Given the description of an element on the screen output the (x, y) to click on. 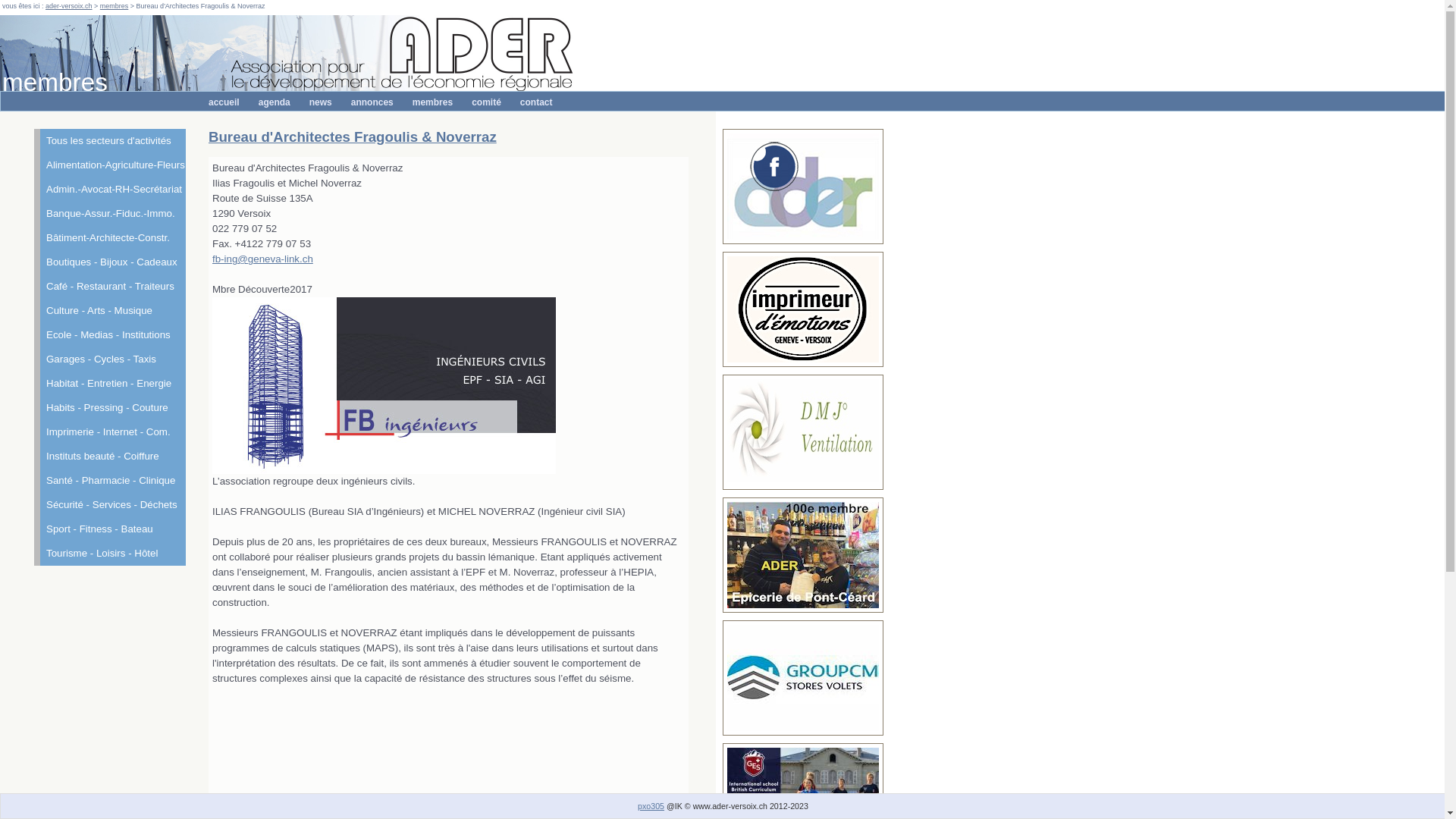
Ecole - Medias - Institutions Element type: text (109, 335)
membres Element type: text (432, 101)
Boutiques - Bijoux - Cadeaux Element type: text (109, 262)
fb-ing@geneva-link.ch Element type: text (262, 258)
Habits - Pressing - Couture Element type: text (109, 407)
contact Element type: text (536, 101)
annonces Element type: text (372, 101)
Imprimerie - Internet - Com. Element type: text (109, 432)
Alimentation-Agriculture-Fleurs Element type: text (109, 165)
Bureau d'Architectes Fragoulis & Noverraz Element type: text (352, 136)
Culture - Arts - Musique Element type: text (109, 310)
Sport - Fitness - Bateau Element type: text (109, 529)
Habitat - Entretien - Energie Element type: text (109, 383)
Garages - Cycles - Taxis Element type: text (109, 359)
membres Element type: text (114, 5)
agenda Element type: text (274, 101)
accueil Element type: text (223, 101)
pxo305 Element type: text (650, 805)
ader-versoix.ch Element type: text (68, 5)
Banque-Assur.-Fiduc.-Immo. Element type: text (109, 213)
news Element type: text (320, 101)
